Given the description of an element on the screen output the (x, y) to click on. 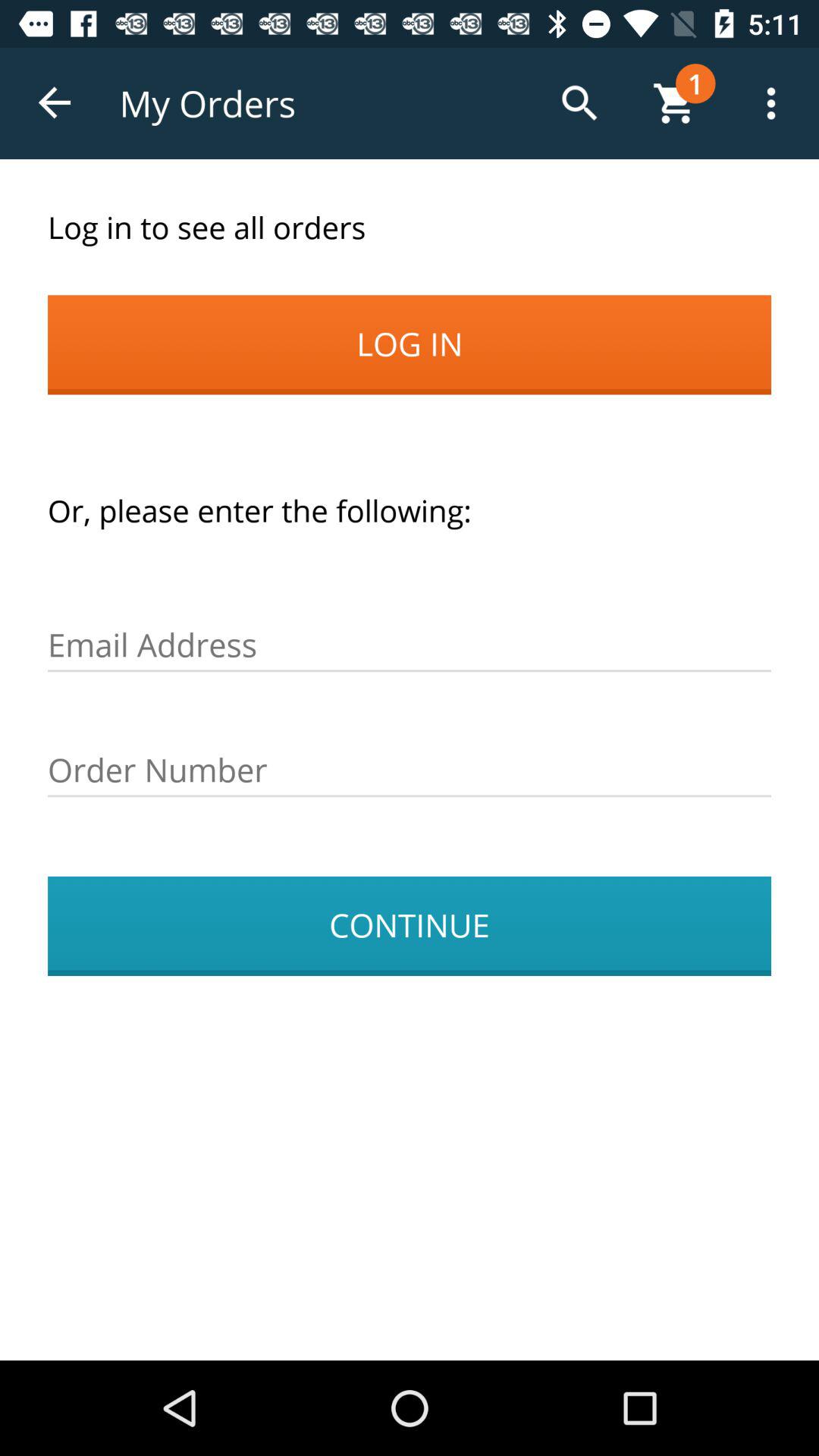
launch the item below the or please enter icon (409, 645)
